Given the description of an element on the screen output the (x, y) to click on. 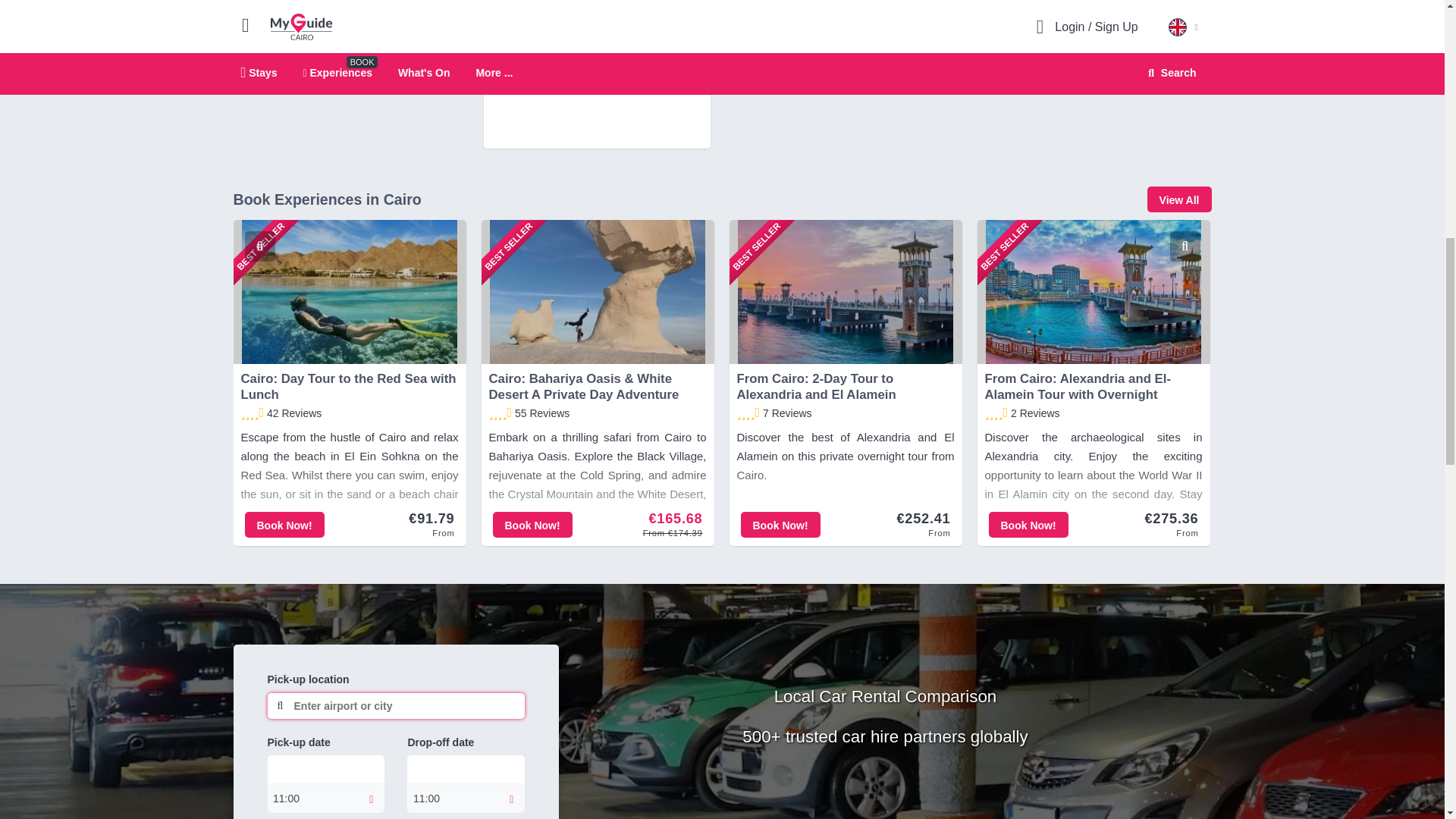
Add to My Guide (694, 18)
